Given the description of an element on the screen output the (x, y) to click on. 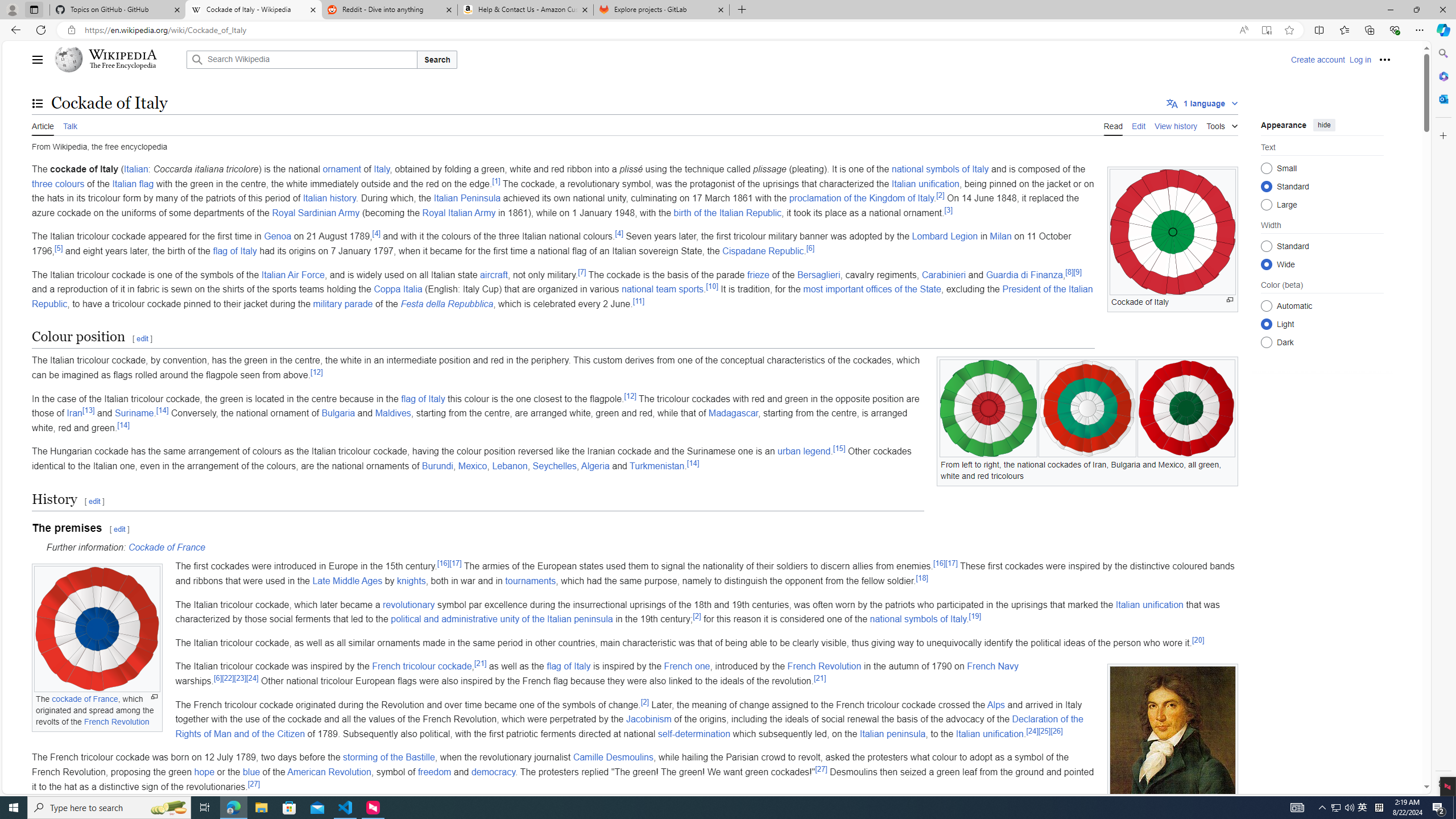
democracy (492, 771)
Declaration of the Rights of Man and of the Citizen (628, 726)
aircraft (493, 274)
Guardia di Finanza (1023, 274)
Small (1266, 167)
[14] (691, 462)
Wide (1266, 263)
hope (204, 771)
[3] (947, 209)
